Given the description of an element on the screen output the (x, y) to click on. 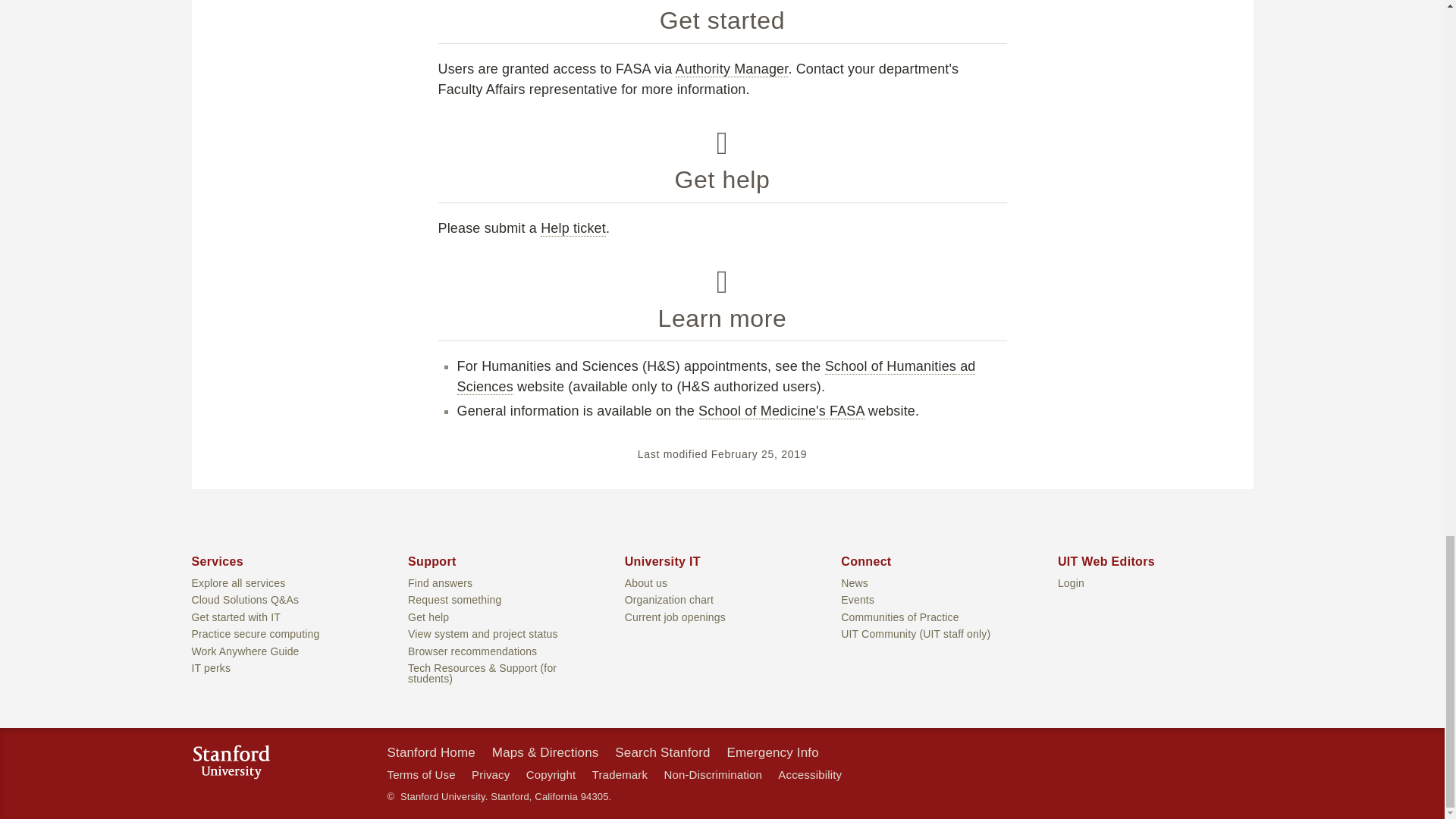
Report web accessibility issues (809, 774)
Terms of use for sites (420, 774)
Report alleged copyright infringement (550, 774)
Privacy and cookie policy (490, 774)
Ownership and use of Stanford trademarks and images (619, 774)
Non-discrimination policy (712, 774)
